Given the description of an element on the screen output the (x, y) to click on. 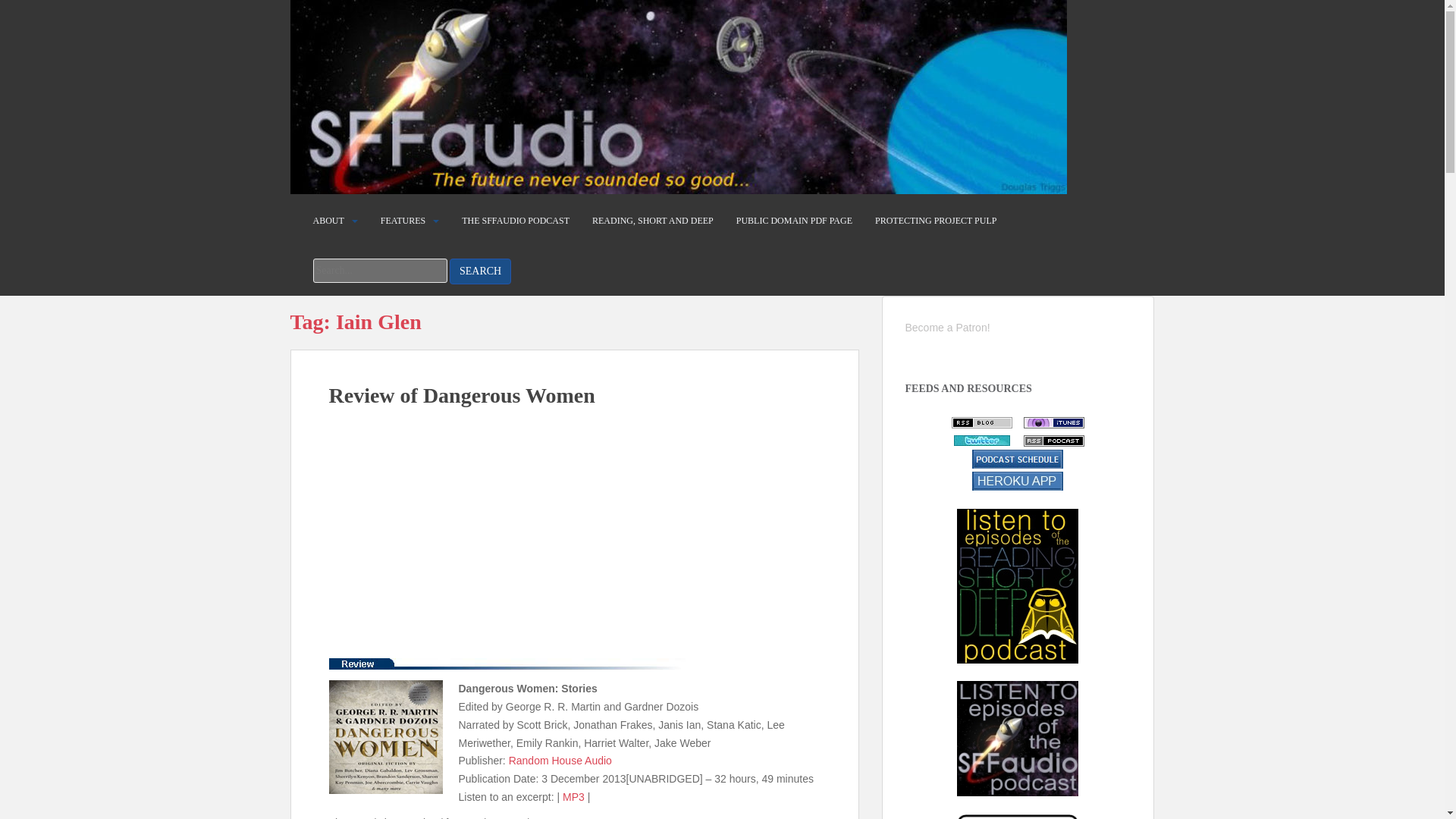
READING, SHORT AND DEEP (652, 220)
PodcastSchedule (1017, 479)
Random House Audio (559, 760)
THE SFFAUDIO PODCAST (515, 220)
Search (480, 271)
PROTECTING PROJECT PULP (935, 220)
Listen To Past Episodes Of The SFFaudio Podcast (1017, 738)
Search (480, 271)
Review of Dangerous Women (462, 395)
MP3 (573, 797)
PUBLIC DOMAIN PDF PAGE (793, 220)
ABOUT (328, 220)
Podlove Web Player: Review of Dangerous Women (575, 536)
FEATURES (402, 220)
PodcastSchedule (1017, 458)
